Given the description of an element on the screen output the (x, y) to click on. 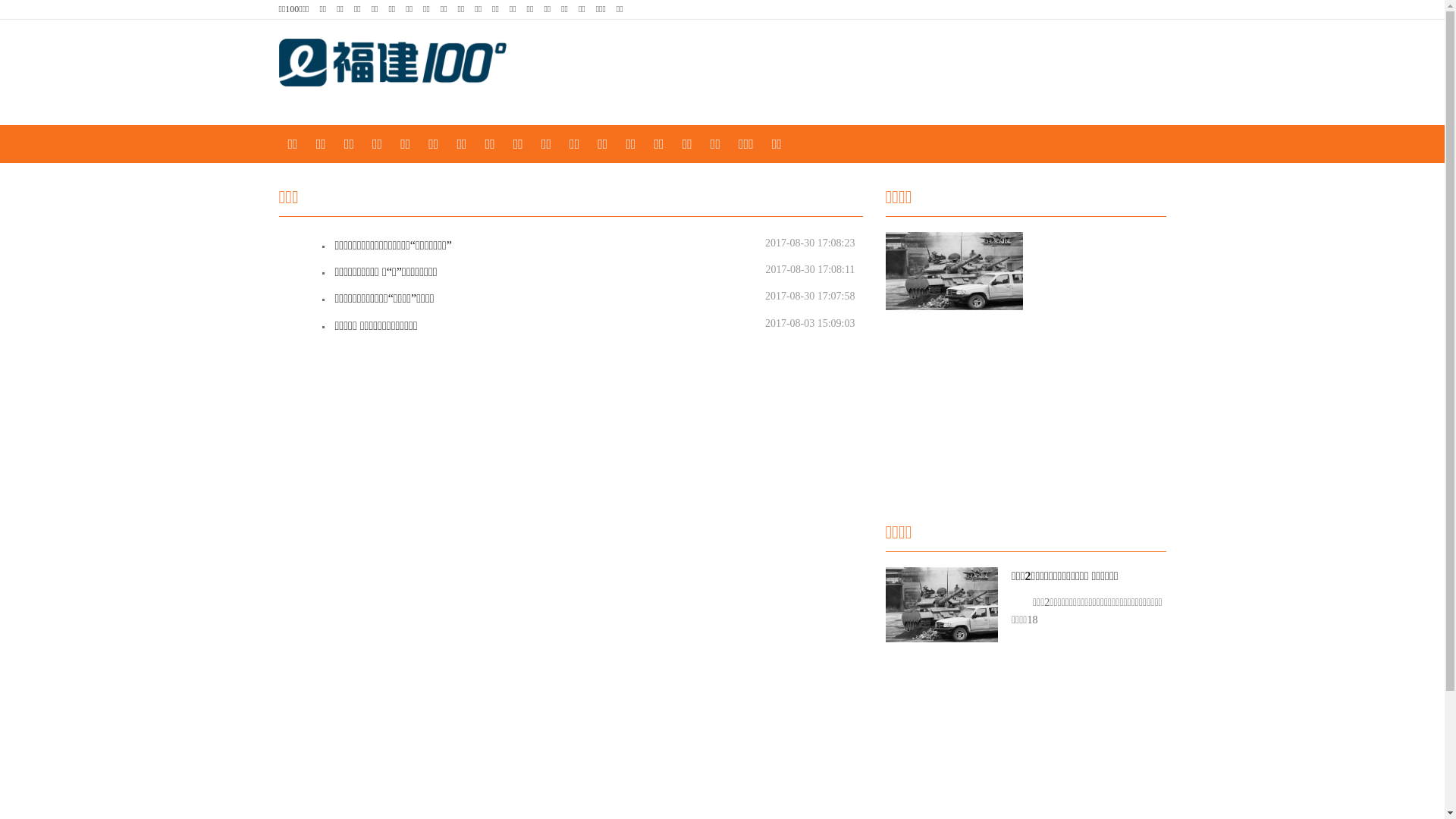
Advertisement Element type: hover (1018, 410)
Advertisement Element type: hover (821, 72)
